Given the description of an element on the screen output the (x, y) to click on. 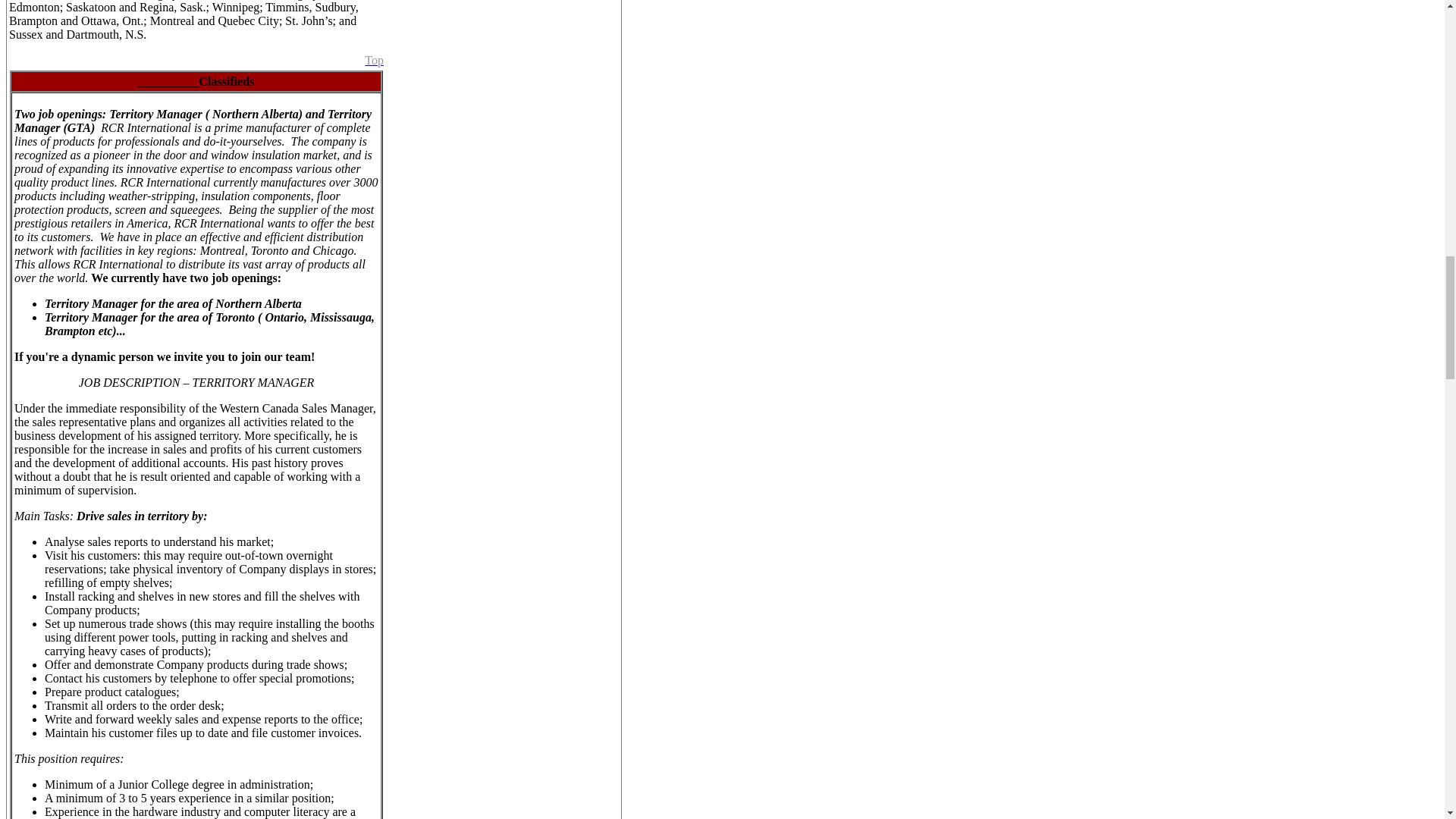
Top (374, 60)
